Given the description of an element on the screen output the (x, y) to click on. 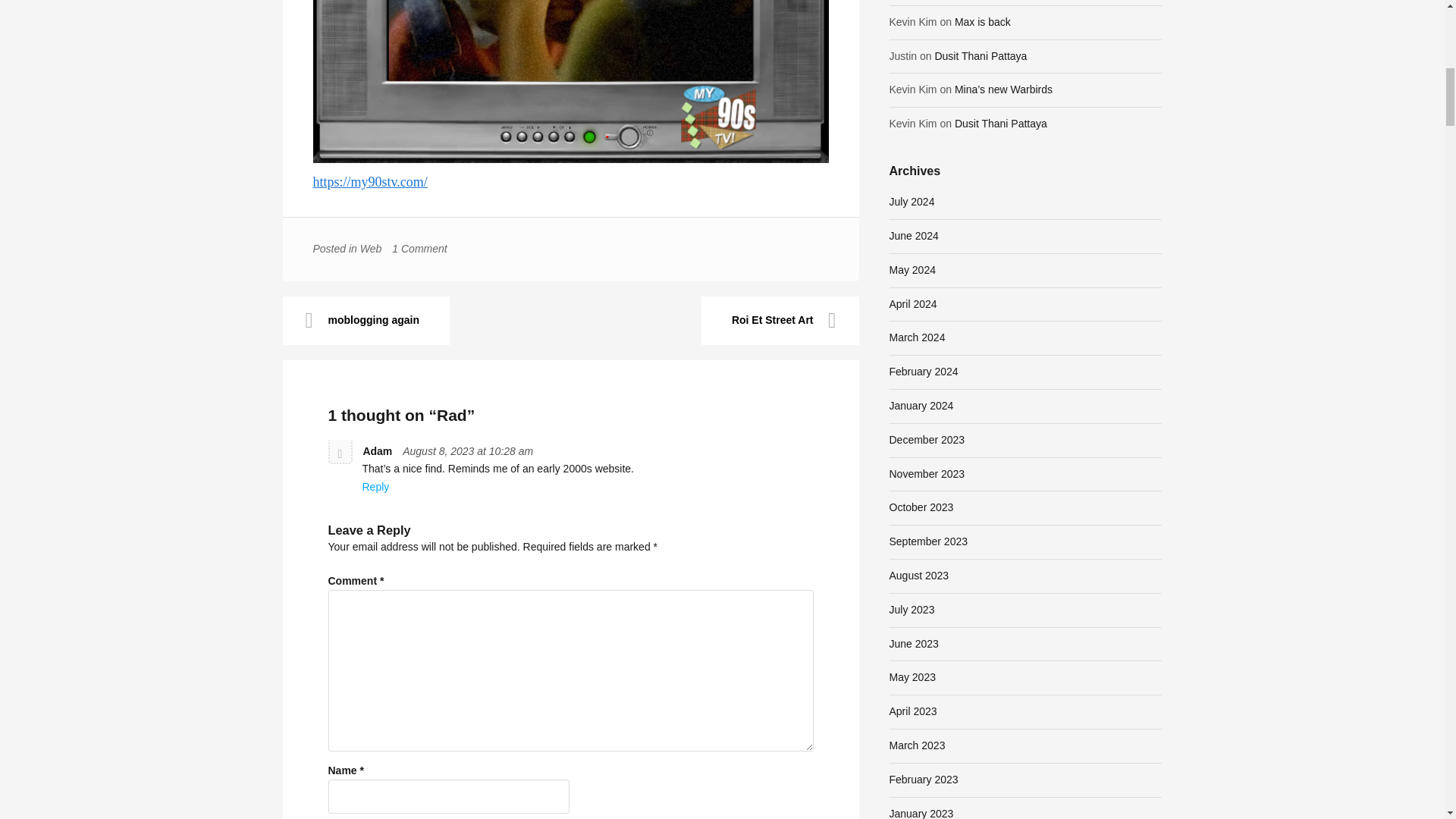
October 2023 (920, 507)
November 2023 (925, 473)
July 2024 (911, 201)
Roi Et Street Art (780, 320)
Dusit Thani Pattaya (980, 55)
April 2024 (912, 304)
Dusit Thani Pattaya (1000, 123)
May 2024 (911, 269)
1 Comment (418, 248)
August 8, 2023 at 10:28 am (467, 451)
March 2024 (916, 337)
February 2024 (923, 371)
June 2024 (912, 235)
Max is back (982, 21)
Web (370, 248)
